Given the description of an element on the screen output the (x, y) to click on. 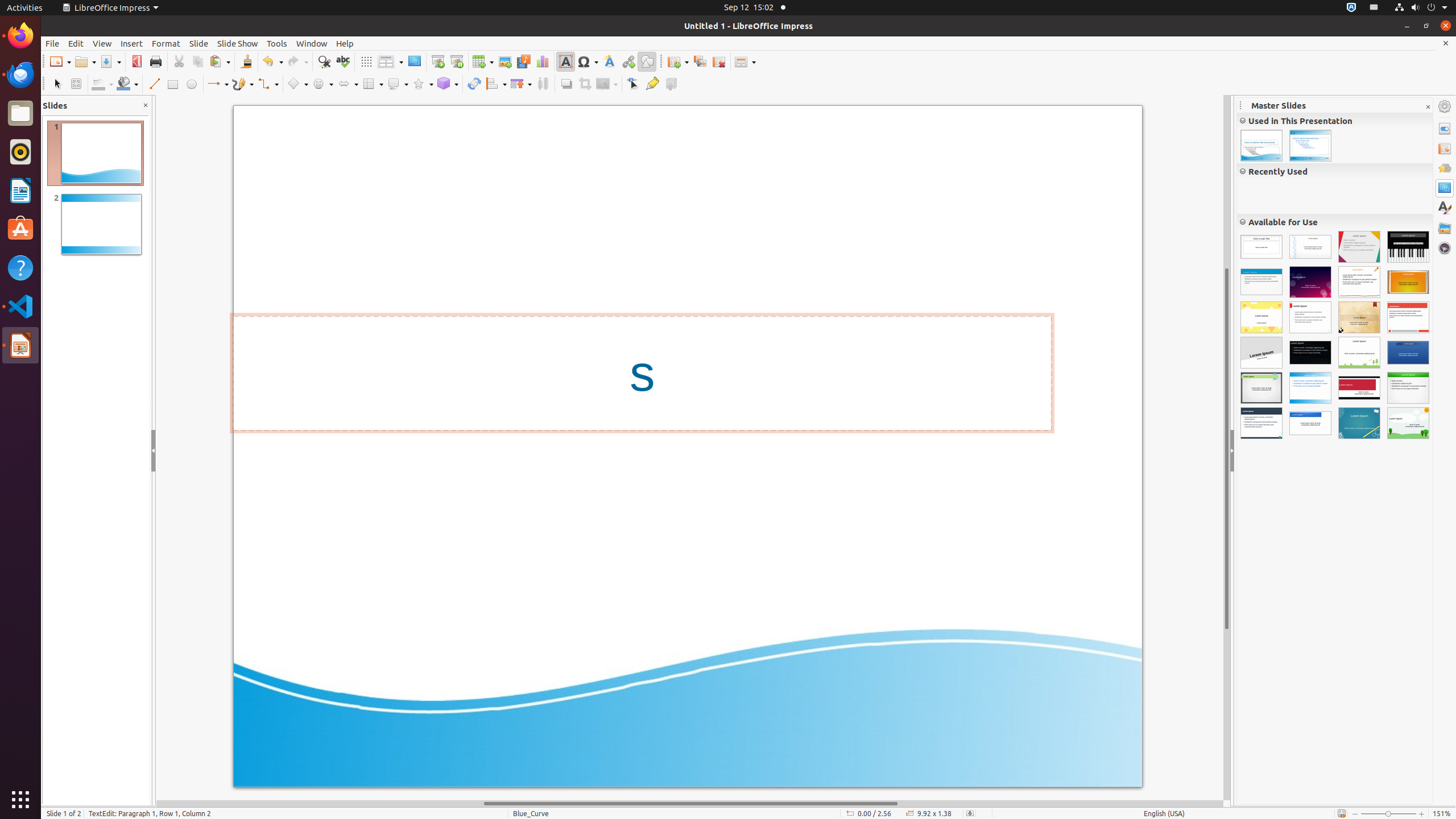
Forestbird Element type: list-item (1358, 352)
Clone Element type: push-button (245, 61)
Flowchart Shapes Element type: push-button (372, 83)
Distribution Element type: push-button (542, 83)
Image Element type: push-button (504, 61)
